Given the description of an element on the screen output the (x, y) to click on. 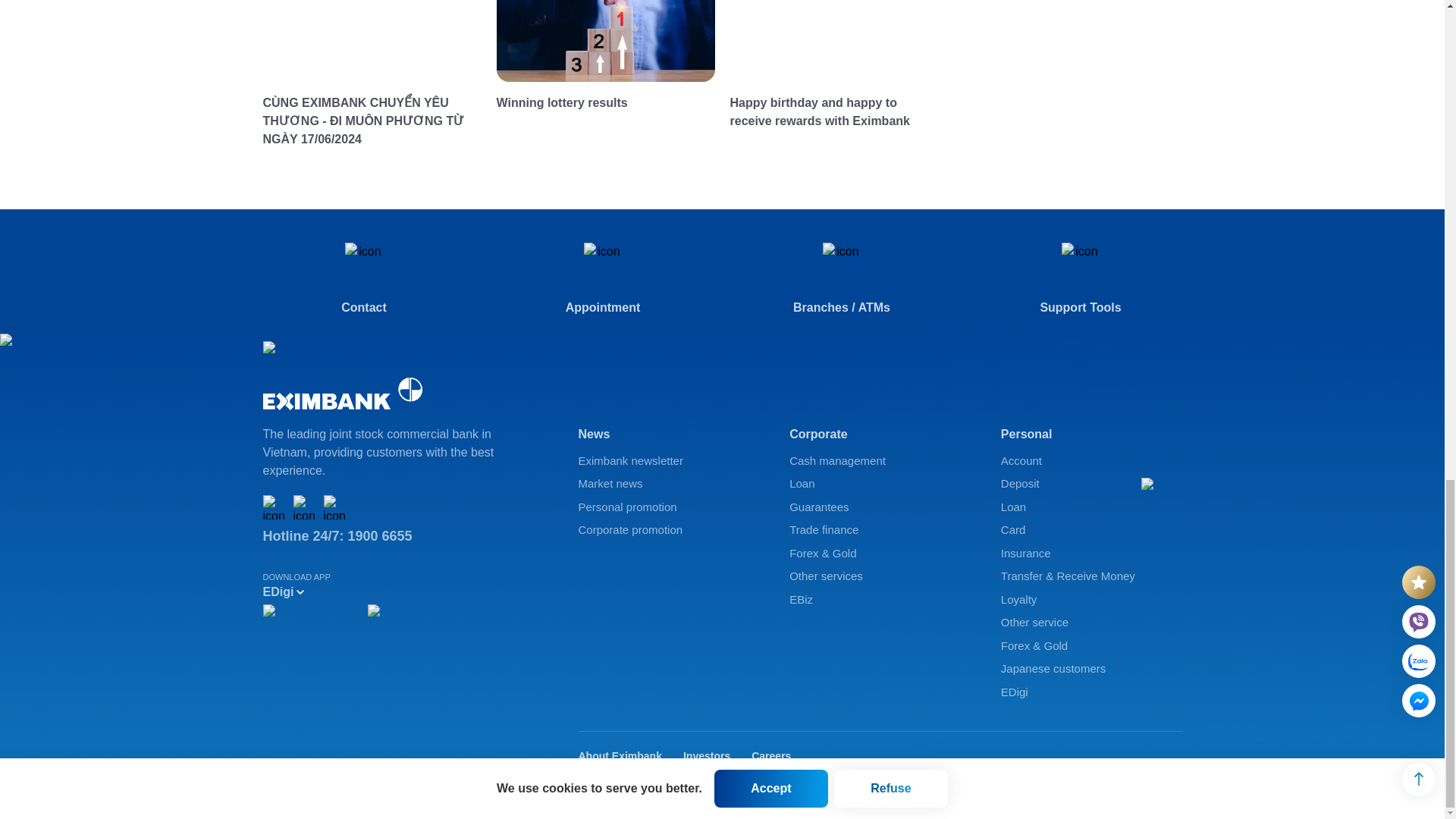
News (668, 434)
Corporate promotion (668, 529)
Eximbank newsletter (668, 461)
Personal promotion (668, 507)
Cash management (880, 461)
Corporate (880, 434)
Support Tools (1080, 279)
Market news (668, 484)
Loan (880, 484)
Appointment (603, 279)
Contact (363, 279)
Guarantees (880, 507)
Happy birthday and happy to receive rewards with Eximbank (838, 112)
Winning lottery results (605, 103)
